Given the description of an element on the screen output the (x, y) to click on. 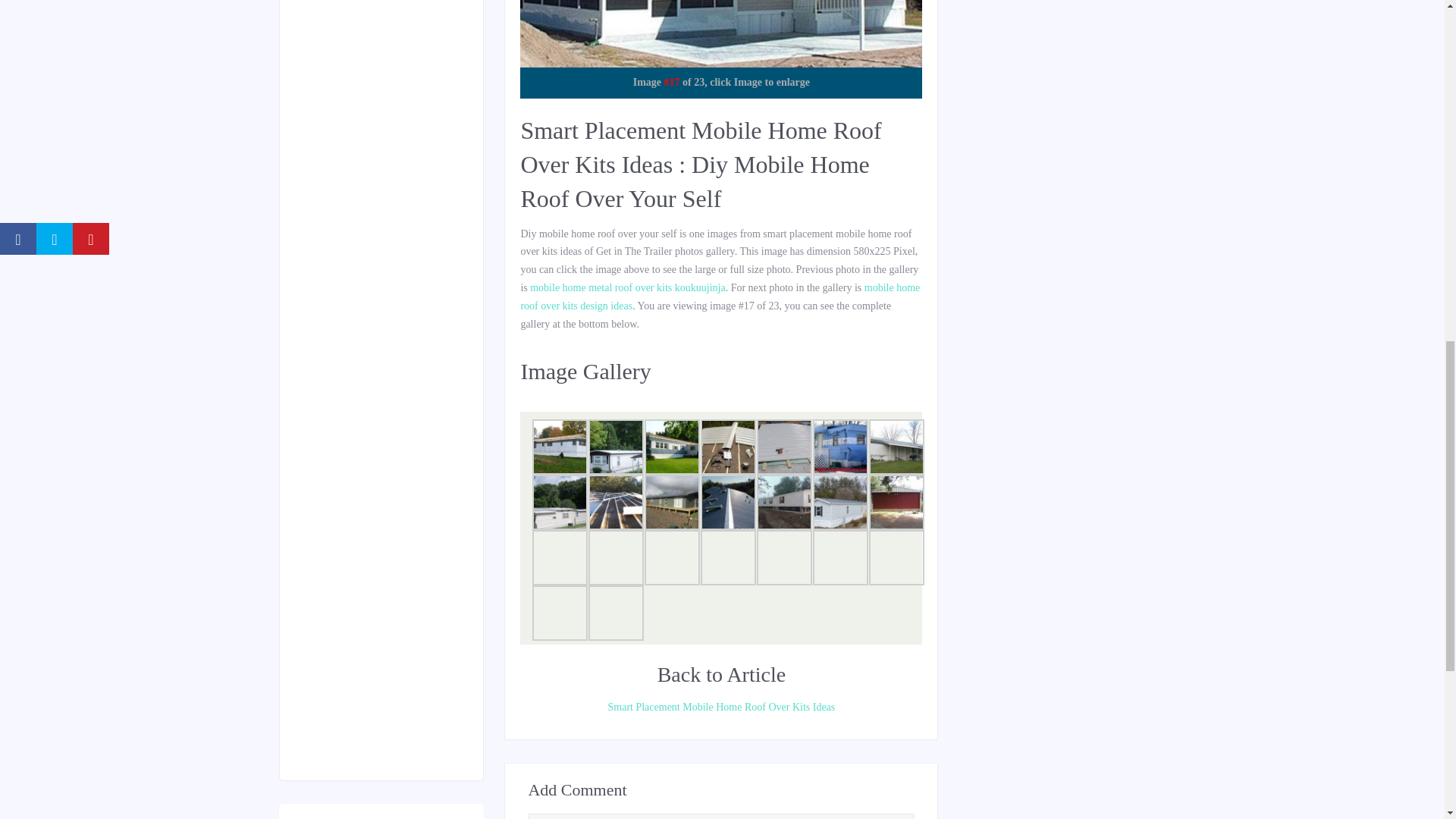
mobile home metal roof over kits koukuujinja (627, 287)
Smart Placement Mobile Home Roof Over Kits Ideas (720, 707)
mobile home roof over kits design ideas (719, 296)
